Given the description of an element on the screen output the (x, y) to click on. 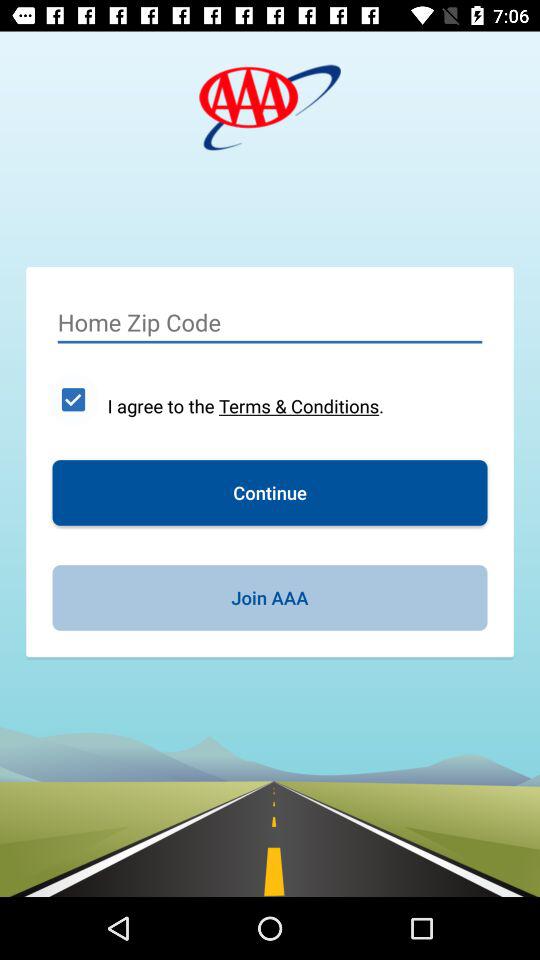
jump to the join aaa icon (269, 597)
